Given the description of an element on the screen output the (x, y) to click on. 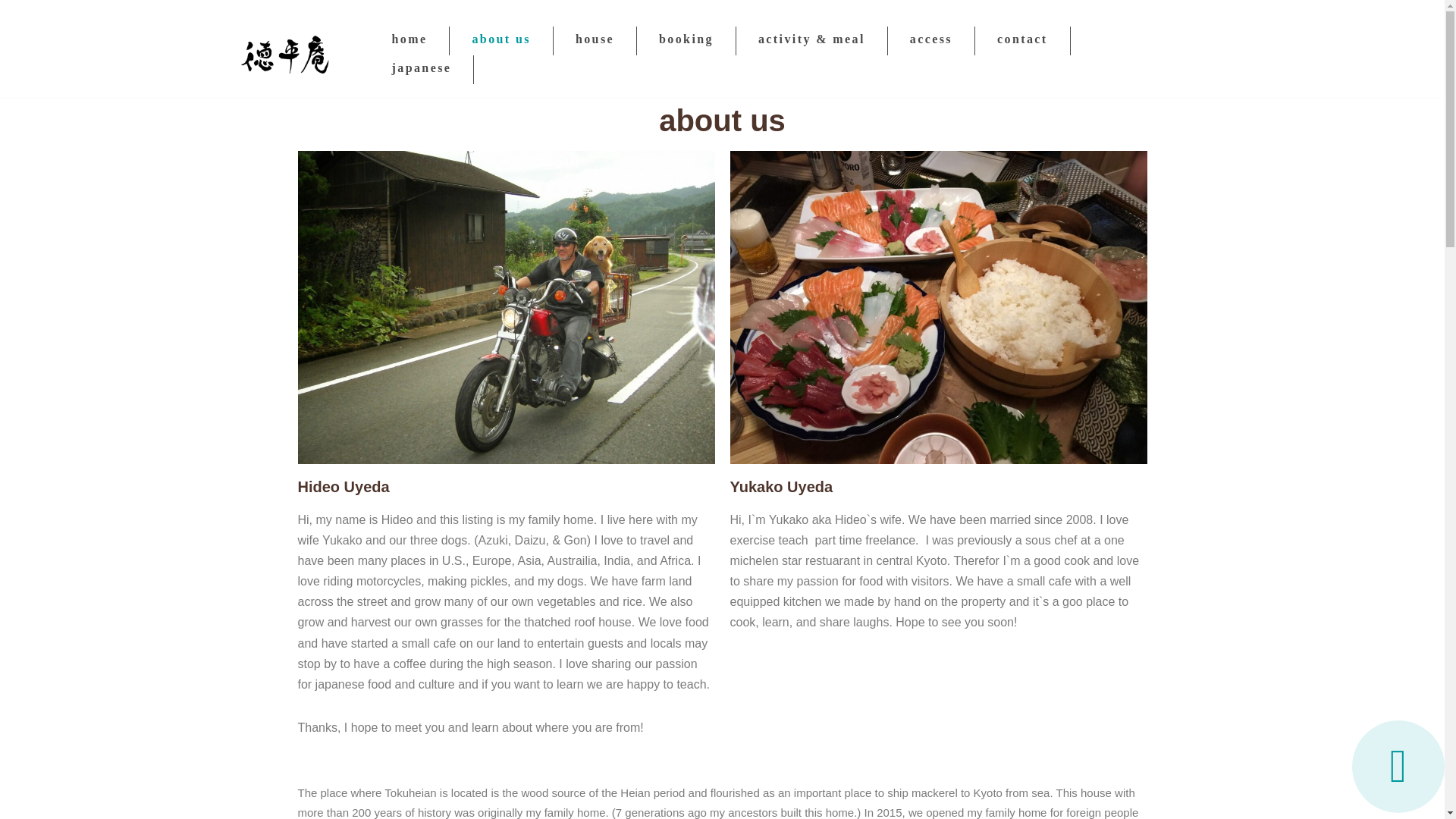
access (930, 40)
home (409, 40)
about us (500, 40)
booking (686, 40)
house (594, 40)
contact (1021, 40)
japanese (421, 69)
